Given the description of an element on the screen output the (x, y) to click on. 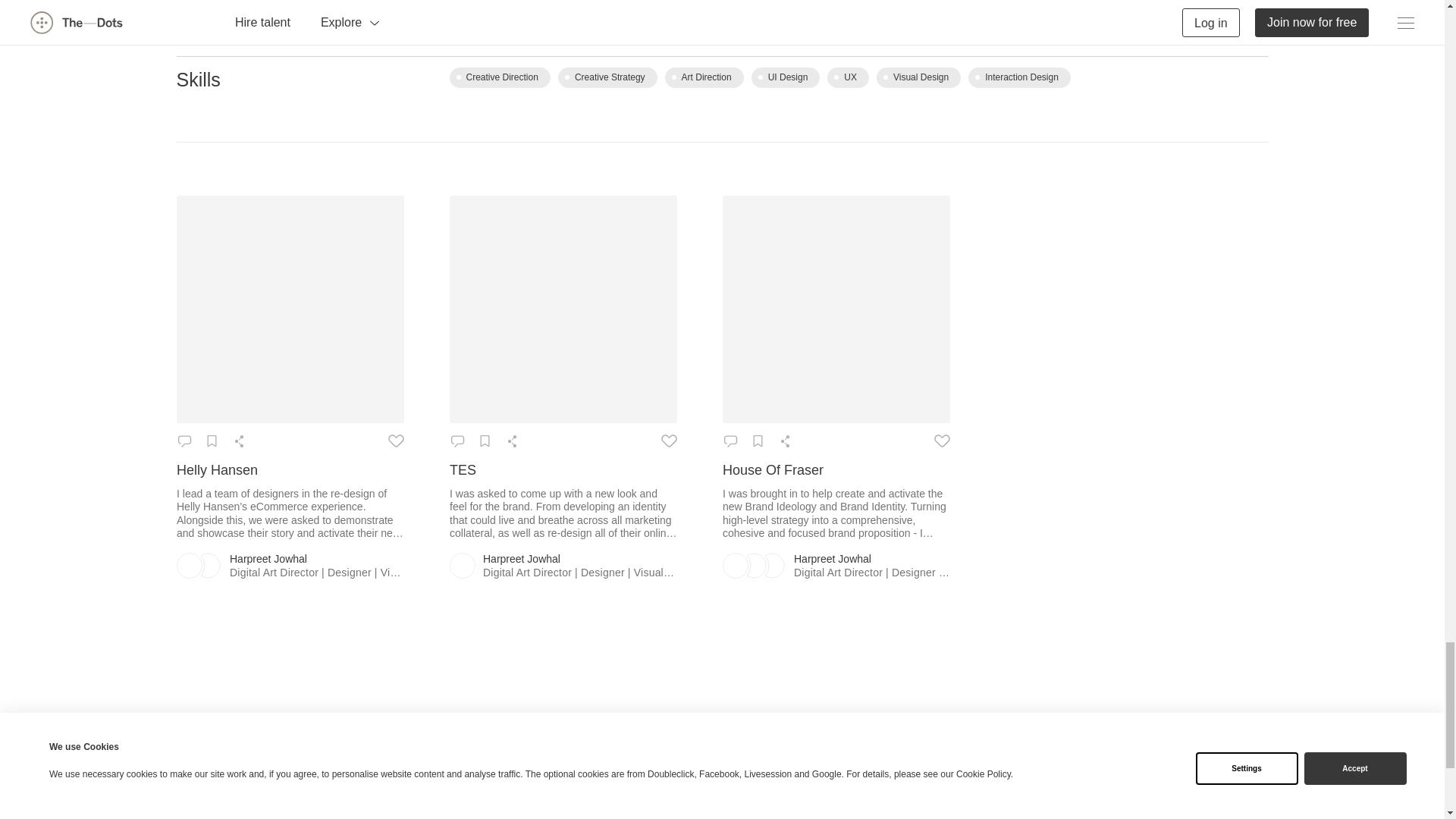
Interaction Design (1019, 77)
Creative Strategy (607, 77)
Visual Design (918, 77)
UI Design (786, 77)
UX (848, 77)
Helly Hansen (289, 470)
Art Direction (704, 77)
Creative Direction (499, 77)
